Given the description of an element on the screen output the (x, y) to click on. 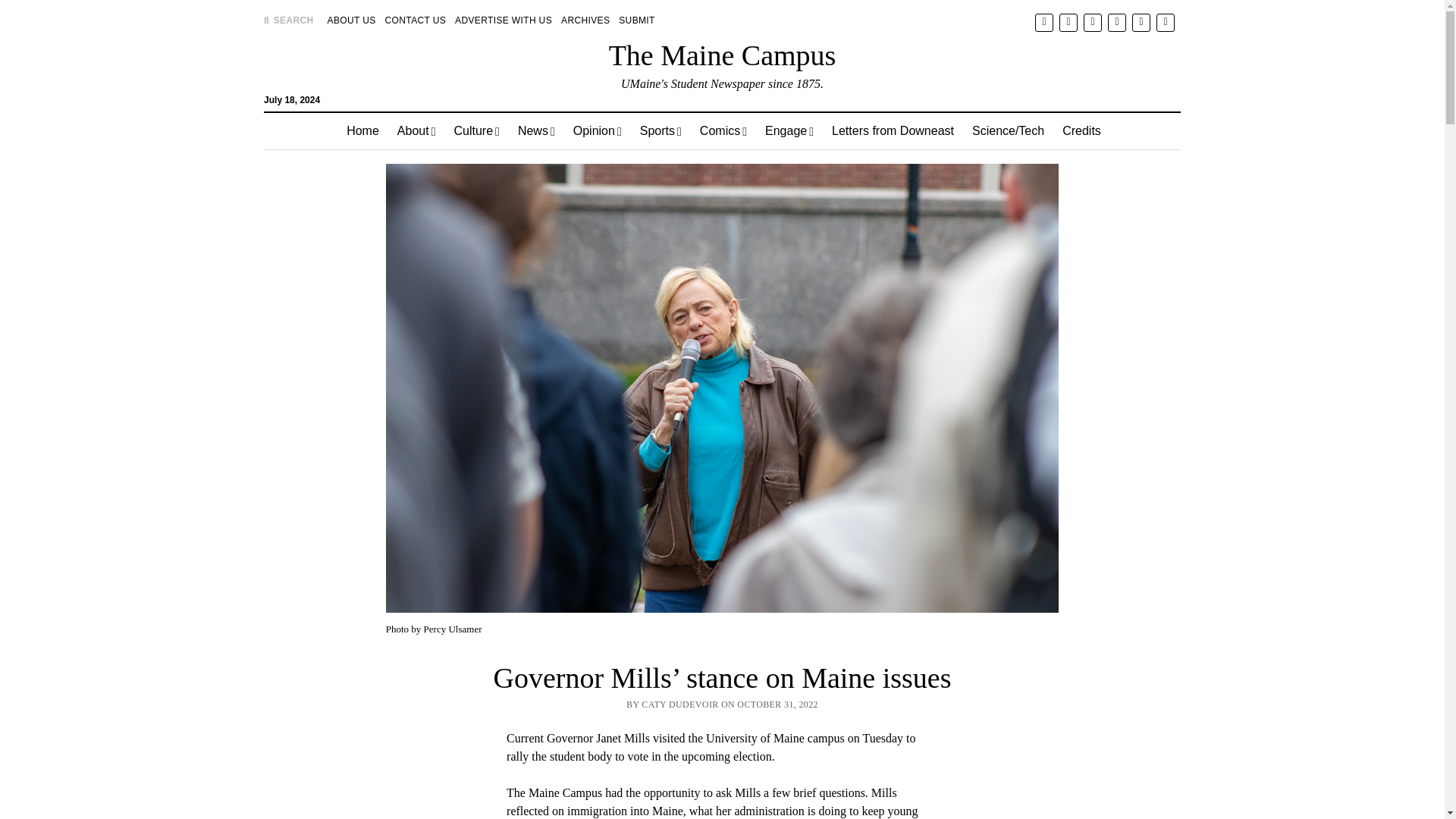
Home (362, 131)
ADVERTISE WITH US (502, 20)
The Maine Campus (721, 55)
News (536, 131)
About (416, 131)
ARCHIVES (585, 20)
CONTACT US (415, 20)
SUBMIT (636, 20)
Culture (476, 131)
SEARCH (288, 20)
Search (945, 129)
ABOUT US (351, 20)
